Given the description of an element on the screen output the (x, y) to click on. 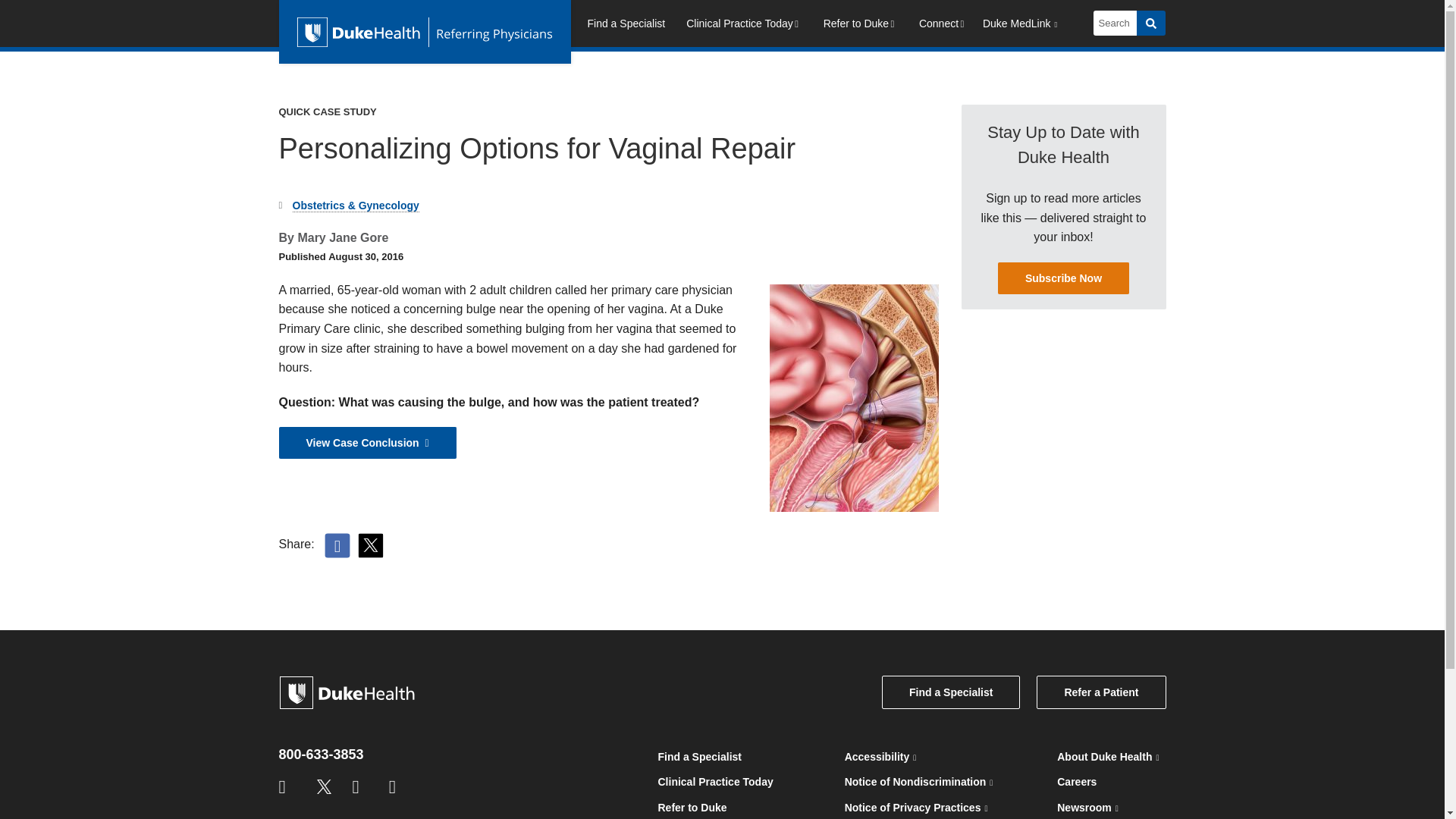
Find a Specialist (625, 25)
Duke Health Referring Physicians Home (424, 31)
Clinical Practice Today (743, 25)
Duke Health Referring Physicians (424, 31)
Connect (943, 25)
Refer to Duke (860, 25)
